Given the description of an element on the screen output the (x, y) to click on. 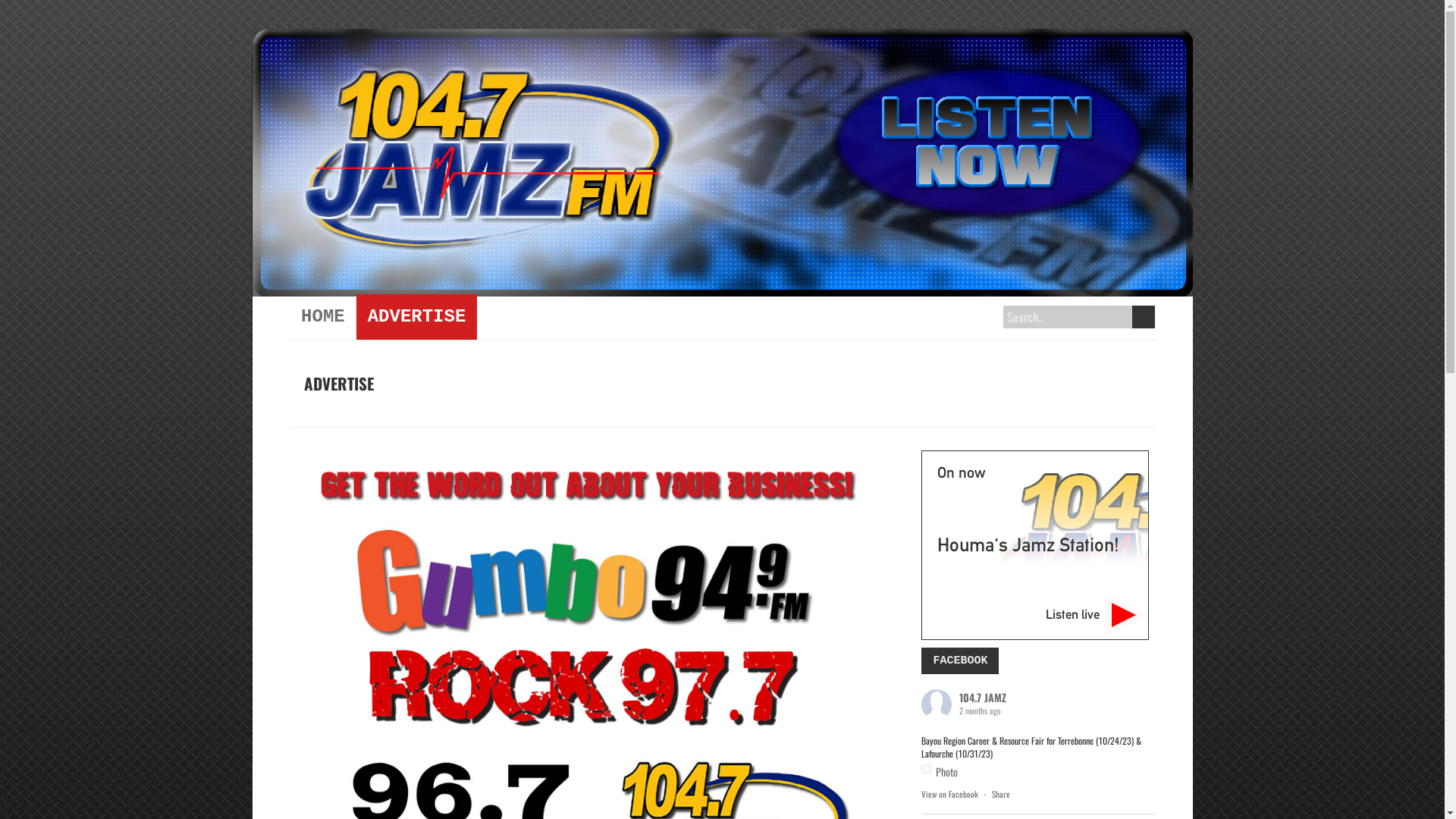
ADVERTISE Element type: text (416, 316)
On now
Houma's Jamz Station!
Listen live Element type: text (1035, 545)
Search for: Element type: hover (1075, 316)
View on Facebook Element type: text (949, 793)
Search Element type: text (1143, 316)
Share Element type: text (1000, 793)
104.7 JAMZ Element type: text (982, 697)
HOME Element type: text (322, 316)
Photo Element type: text (939, 771)
